Given the description of an element on the screen output the (x, y) to click on. 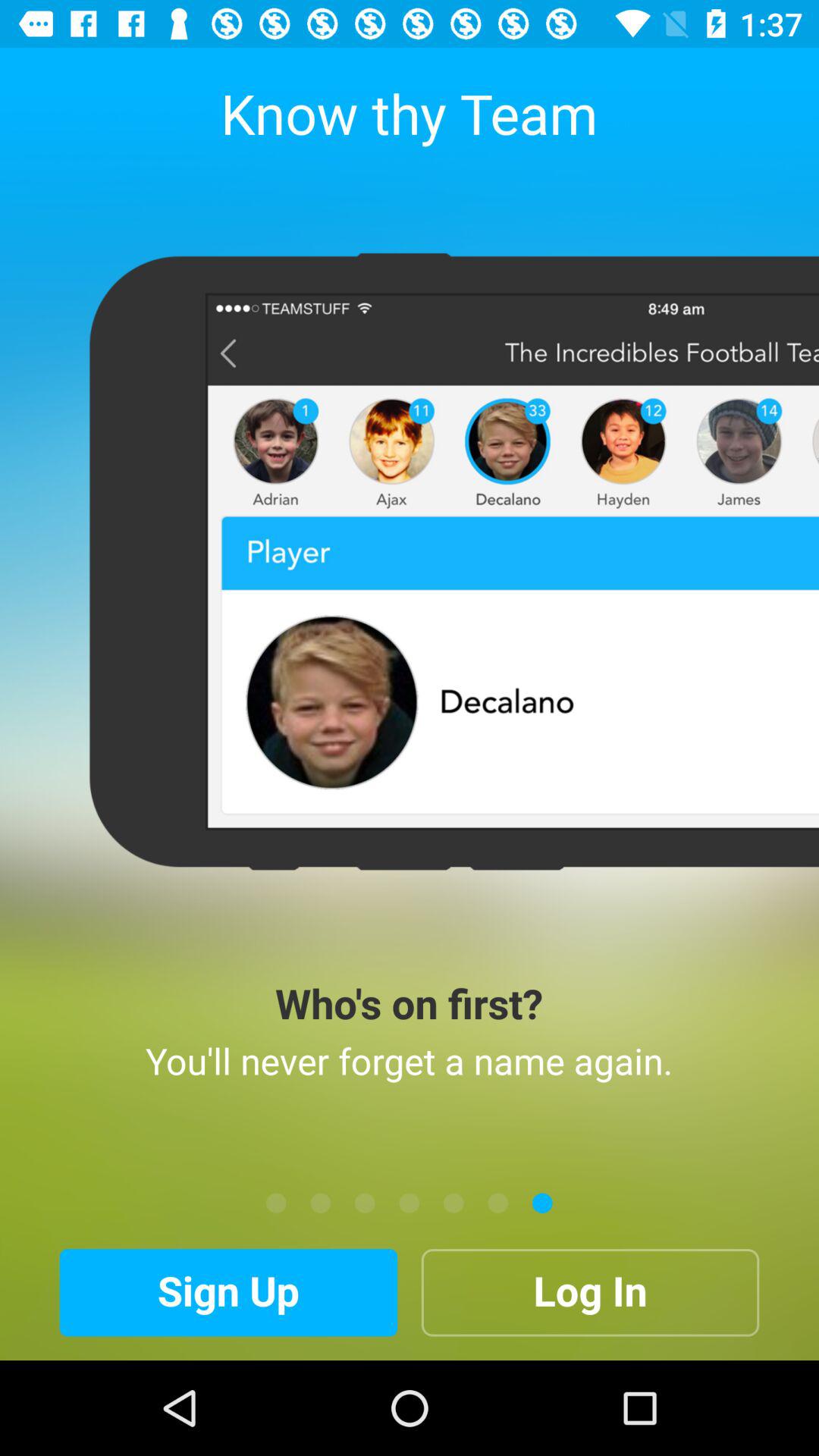
next page (364, 1203)
